Given the description of an element on the screen output the (x, y) to click on. 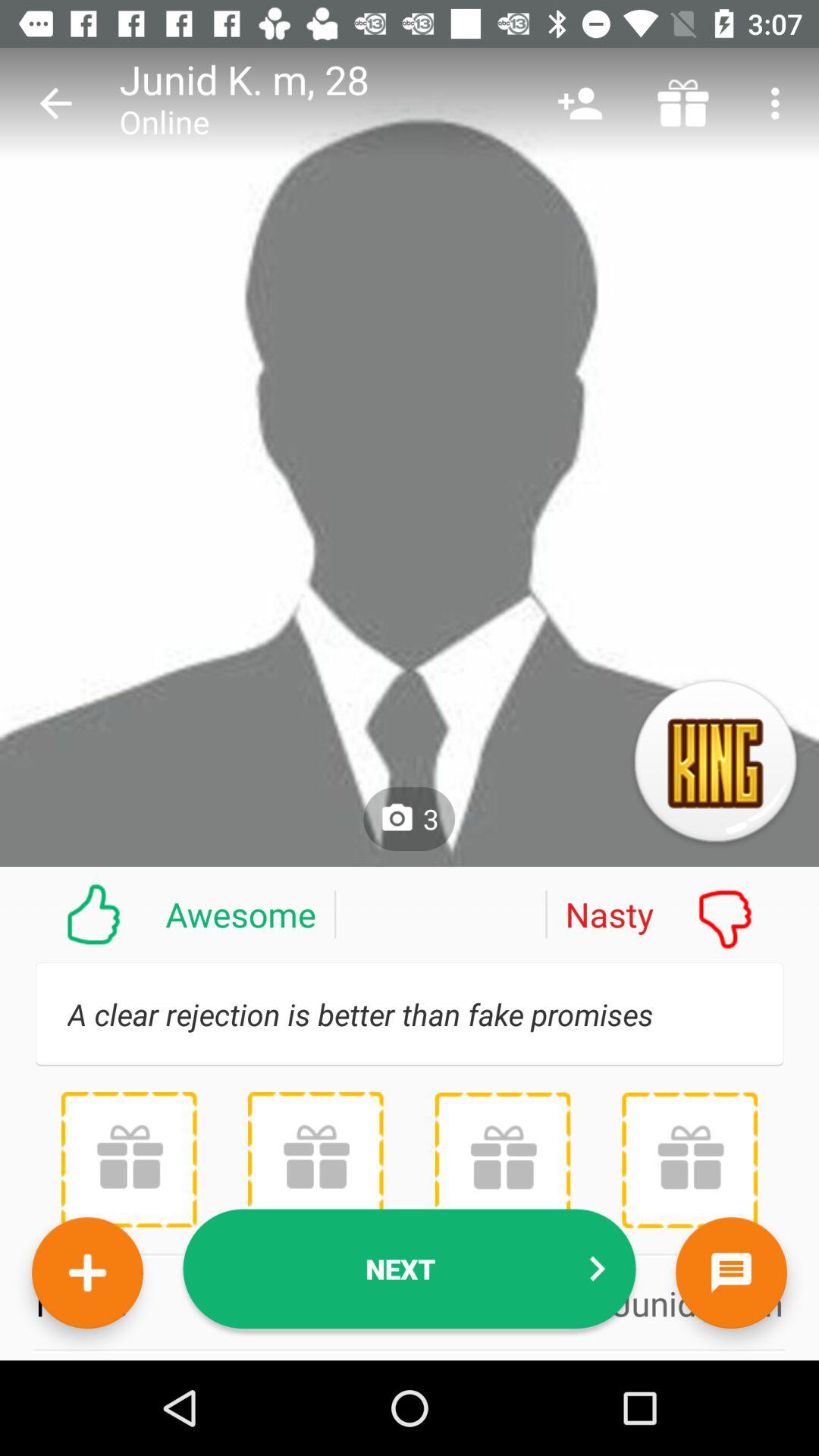
turn off the item above awesome item (55, 103)
